Given the description of an element on the screen output the (x, y) to click on. 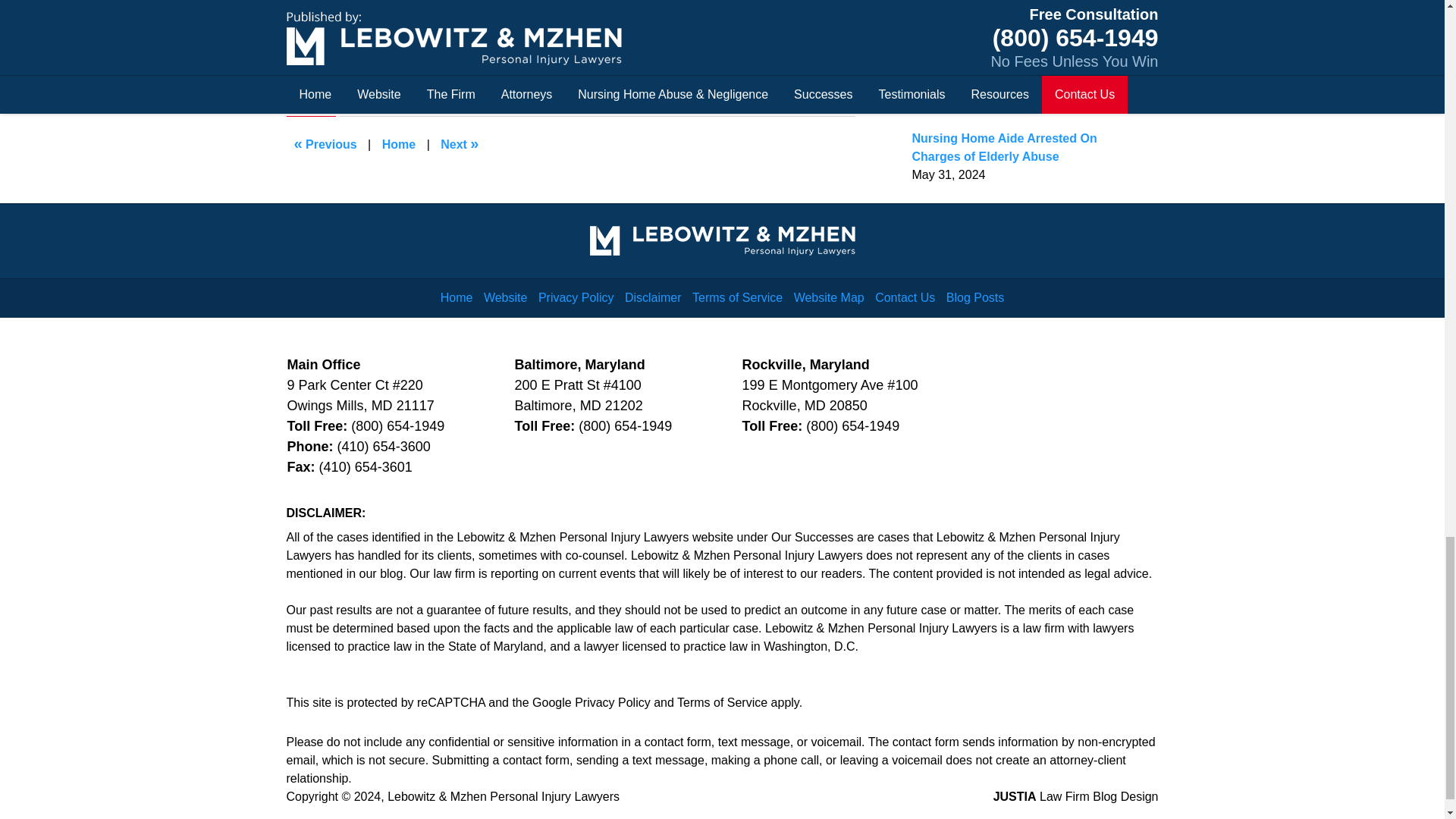
View all posts in Nursing Home Negligence (521, 57)
Nursing Home Abuse Caught in the Act; Charges Unlikely (459, 144)
View all posts in Nursing Home Abuse (386, 57)
